Given the description of an element on the screen output the (x, y) to click on. 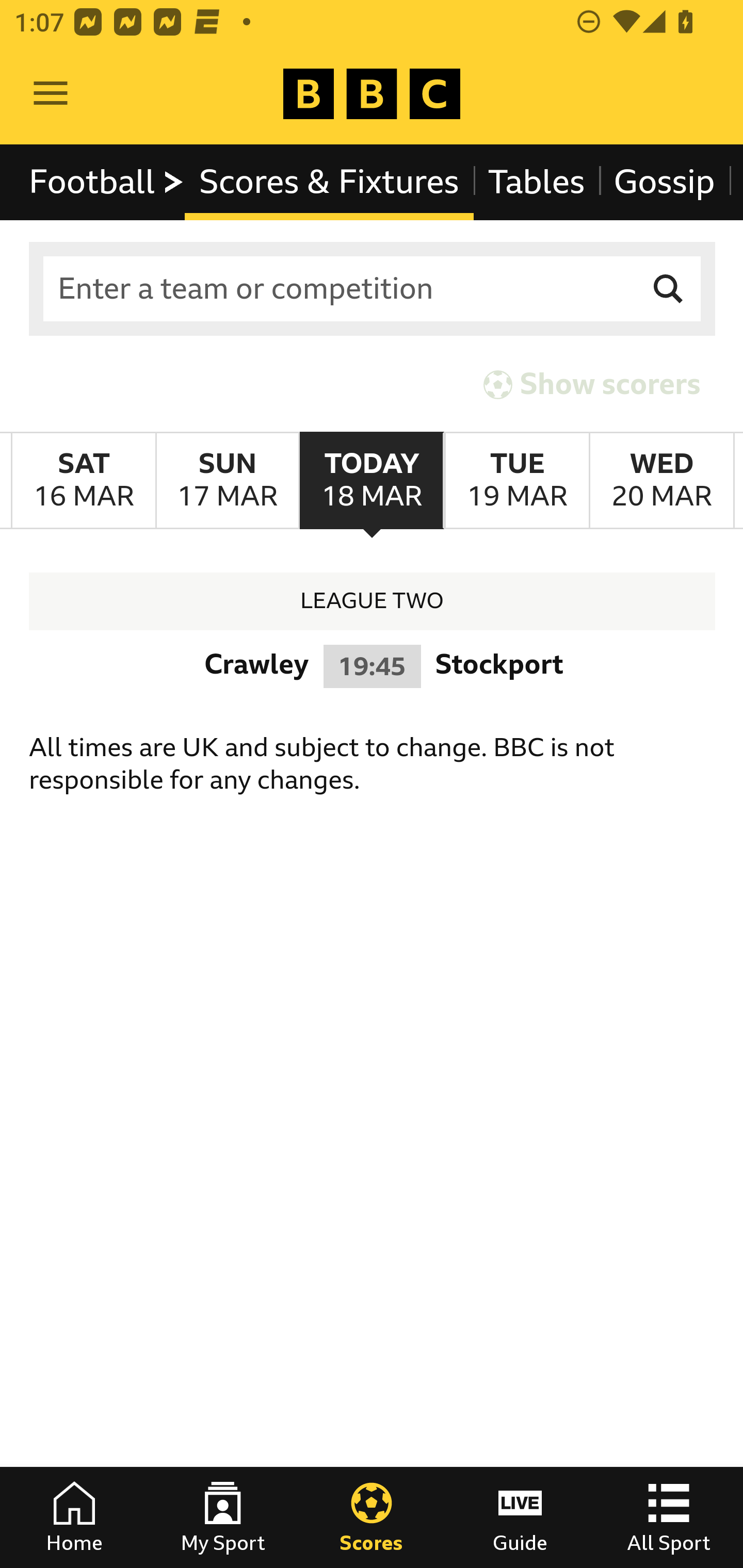
Open Menu (50, 93)
Football  (106, 181)
Scores & Fixtures (329, 181)
Tables (536, 181)
Gossip (664, 181)
Search (669, 289)
Show scorers (591, 383)
SaturdayMarch 16th Saturday March 16th (83, 480)
SundayMarch 17th Sunday March 17th (227, 480)
TuesdayMarch 19th Tuesday March 19th (516, 480)
WednesdayMarch 20th Wednesday March 20th (661, 480)
Home (74, 1517)
My Sport (222, 1517)
Guide (519, 1517)
All Sport (668, 1517)
